Given the description of an element on the screen output the (x, y) to click on. 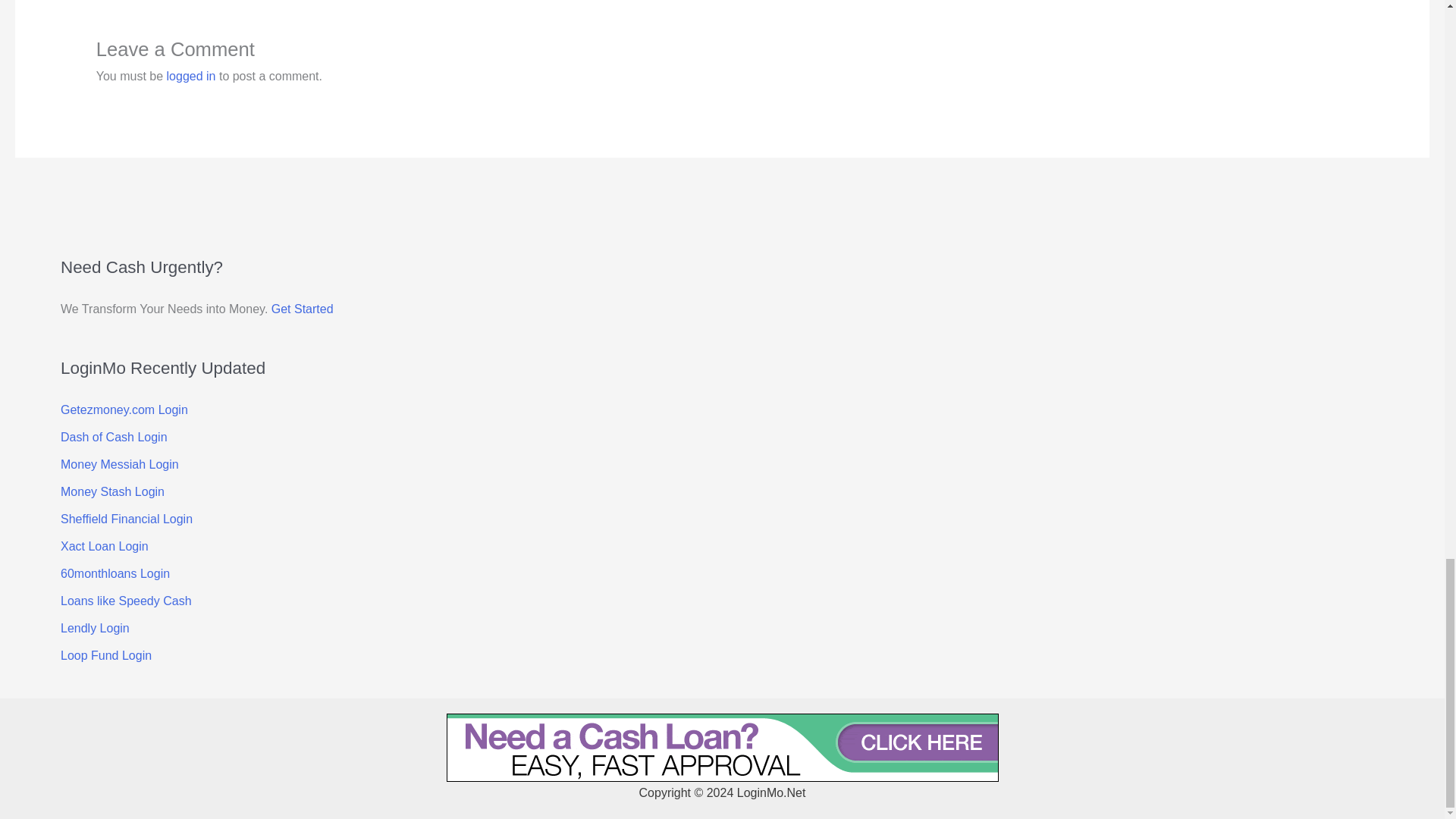
Loop Fund Login (106, 655)
Dash of Cash Login (114, 436)
Loans like Speedy Cash (126, 600)
Money Messiah Login (120, 463)
Get Started (301, 308)
Xact Loan Login (104, 545)
logged in (191, 75)
60monthloans Login (115, 573)
Lendly Login (95, 627)
Sheffield Financial Login (126, 518)
Money Stash Login (112, 491)
Getezmoney.com Login (124, 409)
